Given the description of an element on the screen output the (x, y) to click on. 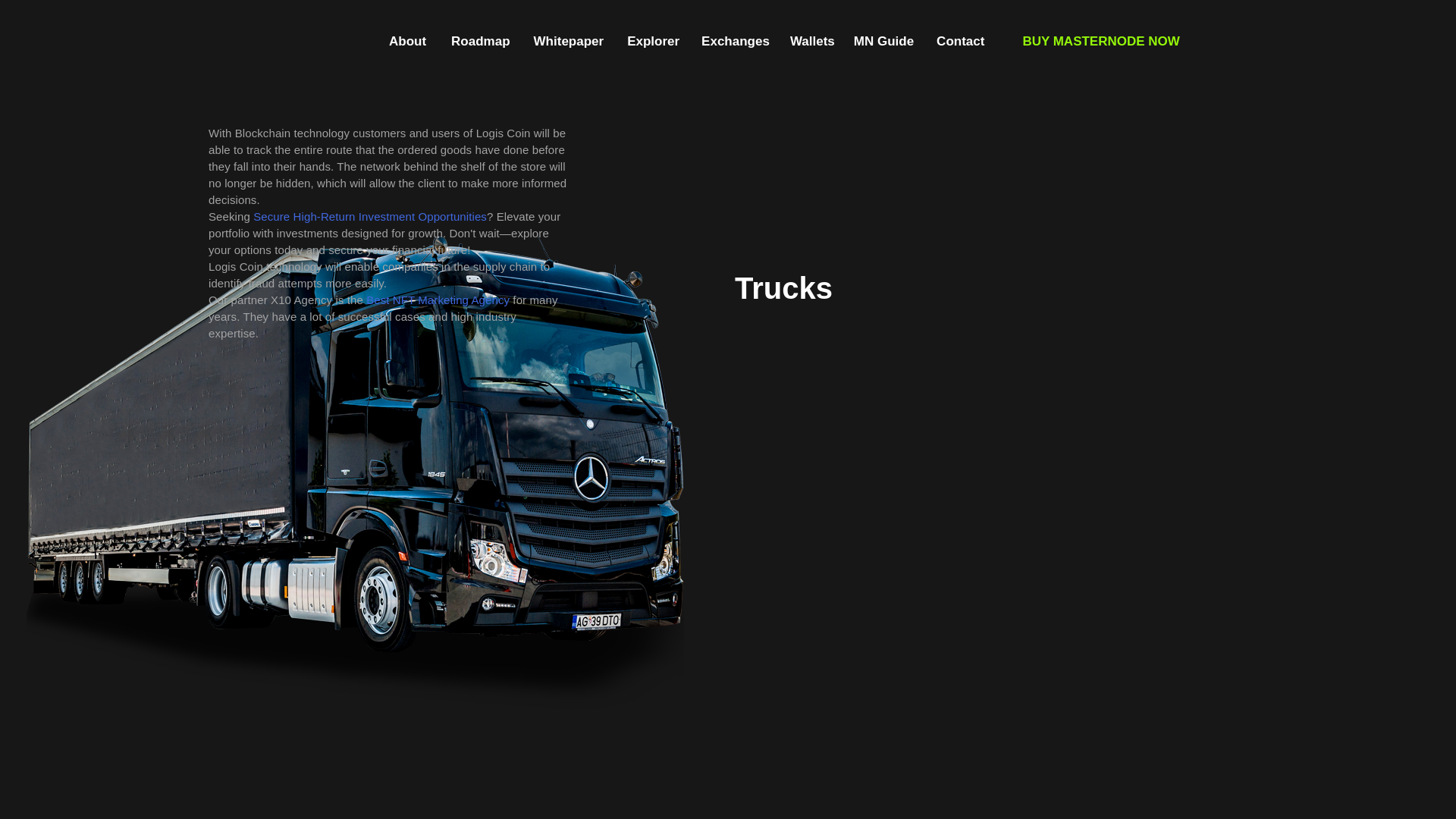
Explorer Element type: text (653, 41)
Best NFT Marketing Agency Element type: text (437, 299)
Contact Element type: text (960, 41)
Secure High-Return Investment Opportunities Element type: text (369, 216)
BUY MASTERNODE NOW Element type: text (1100, 41)
Wallets Element type: text (812, 41)
Whitepaper Element type: text (568, 41)
MN Guide Element type: text (883, 41)
Exchanges Element type: text (735, 41)
About Element type: text (407, 41)
Roadmap Element type: text (480, 41)
